Given the description of an element on the screen output the (x, y) to click on. 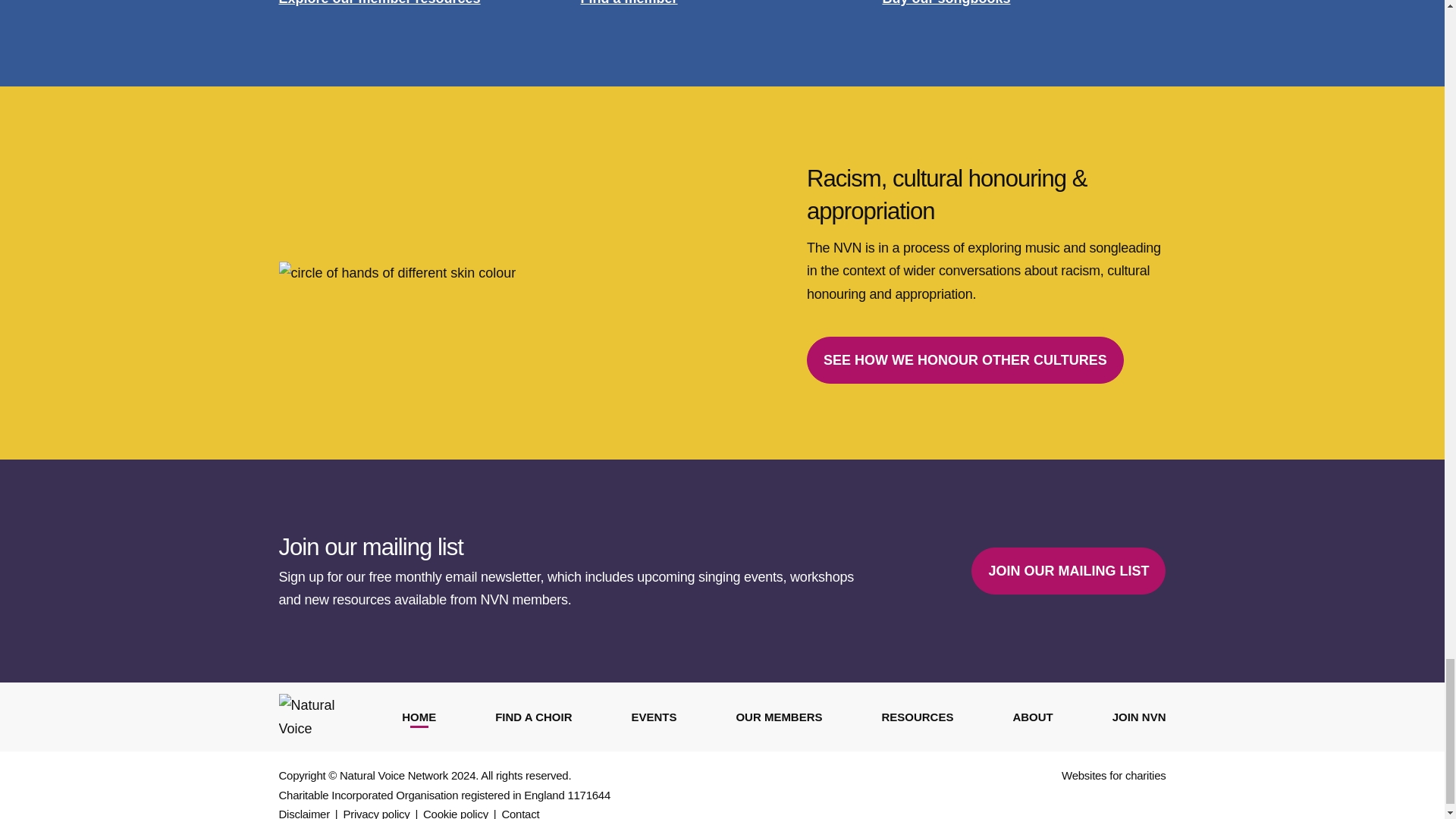
HOME (418, 717)
JOIN OUR MAILING LIST (1068, 571)
SEE HOW WE HONOUR OTHER CULTURES (965, 360)
FIND A CHOIR (533, 717)
OUR MEMBERS (778, 717)
EVENTS (653, 717)
